Given the description of an element on the screen output the (x, y) to click on. 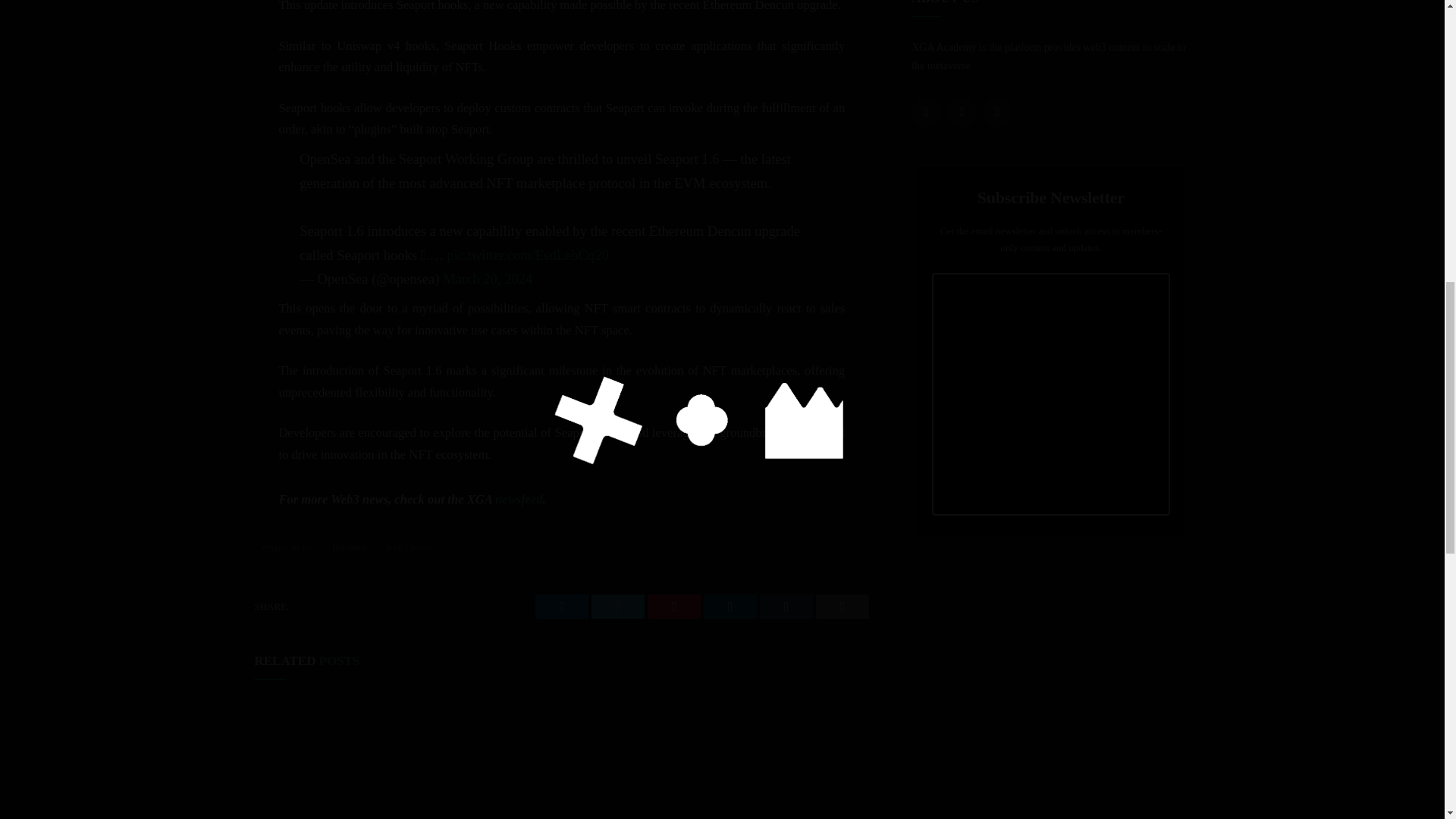
March 20, 2024 (487, 278)
Share on Facebook (561, 606)
